Given the description of an element on the screen output the (x, y) to click on. 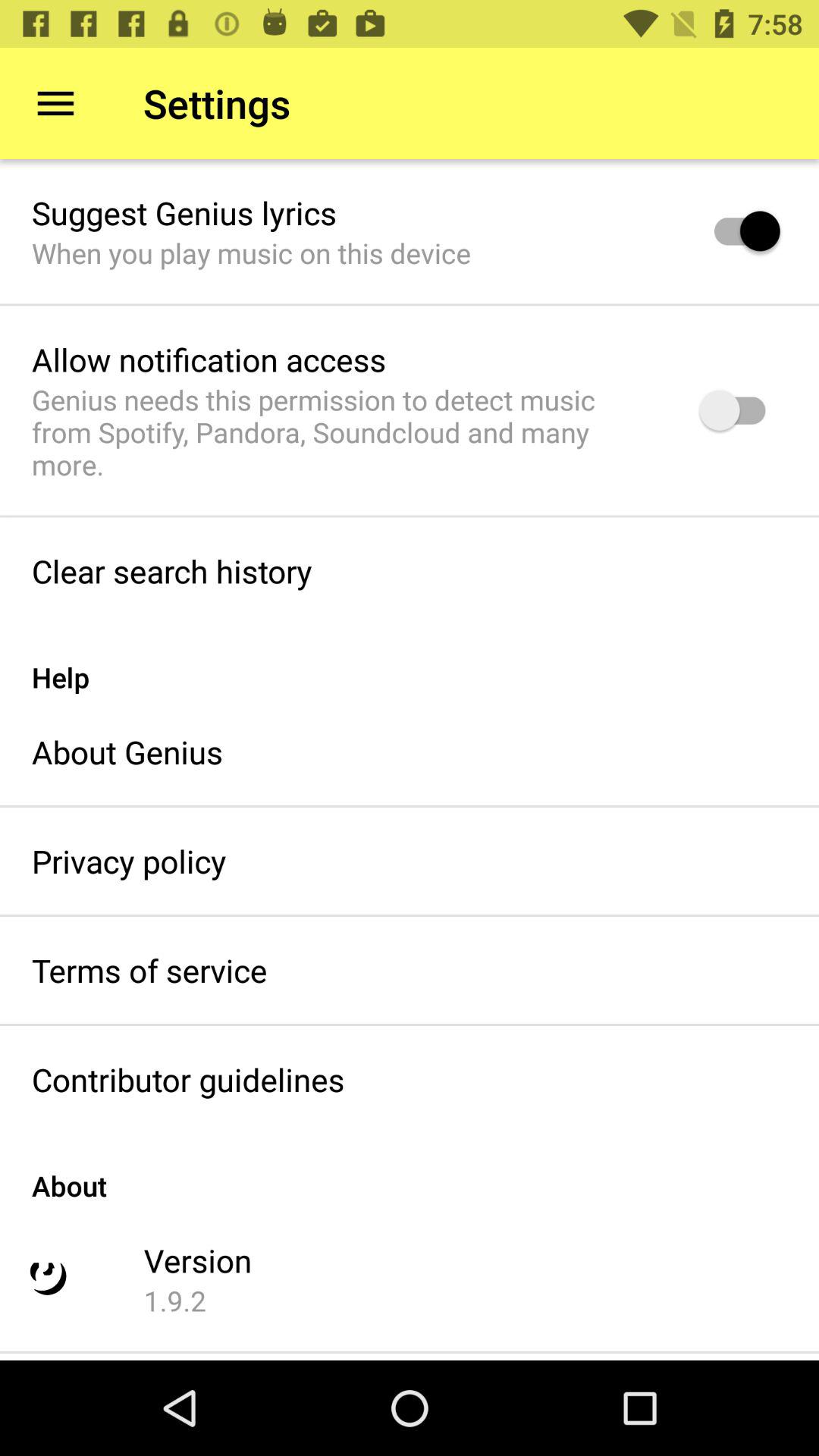
press icon at the top (345, 432)
